Given the description of an element on the screen output the (x, y) to click on. 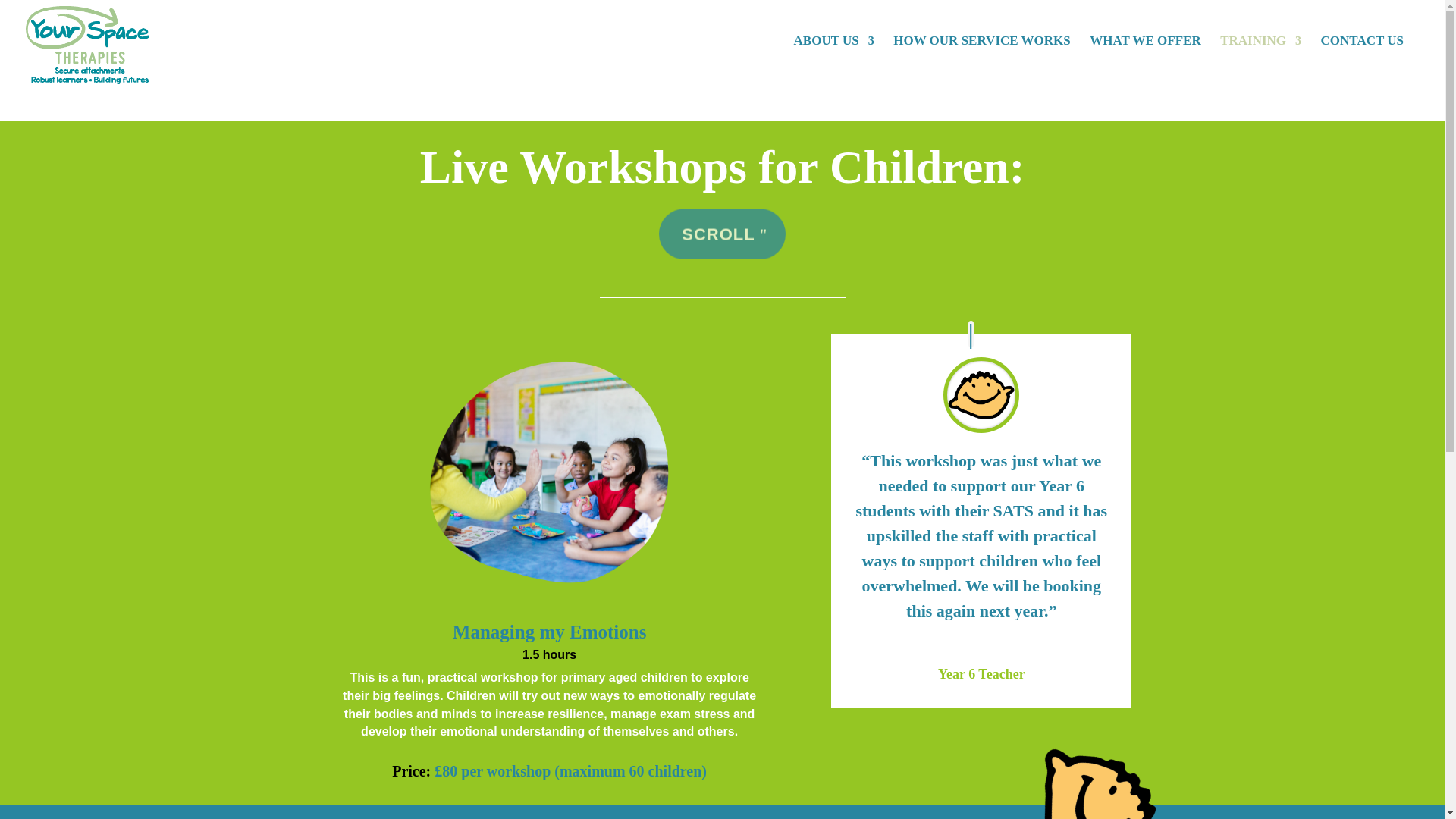
TRAINING (1260, 60)
WHAT WE OFFER (1144, 60)
2 (1092, 767)
ABOUT US (834, 60)
CONTACT US (1361, 60)
SCROLL (721, 231)
HOW OUR SERVICE WORKS (981, 60)
